Given the description of an element on the screen output the (x, y) to click on. 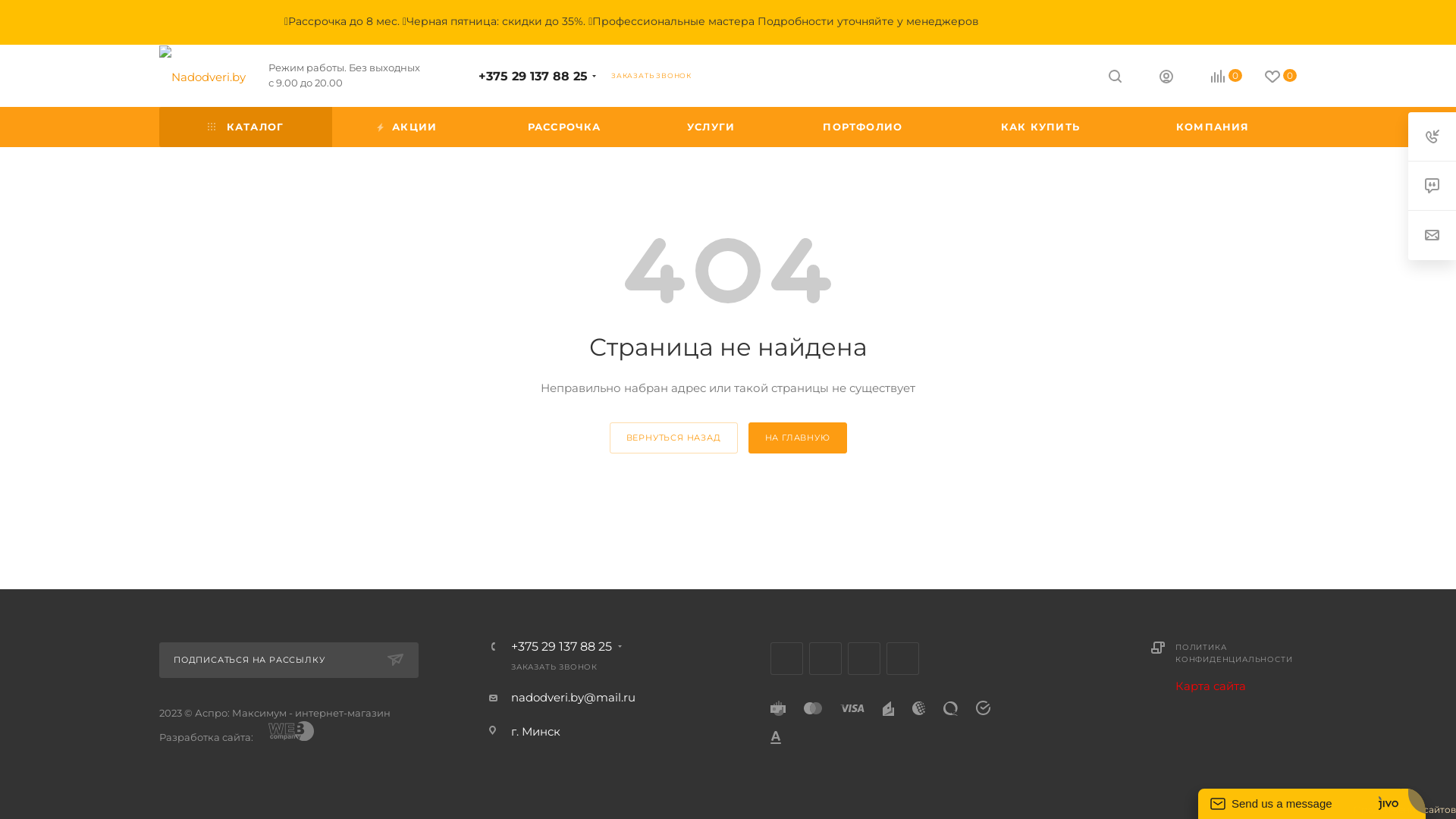
Sberbank Element type: hover (982, 707)
+375 29 137 88 25 Element type: text (561, 646)
Qiwi Element type: hover (950, 707)
; Element type: text (290, 733)
Instagram Element type: text (786, 658)
Visa Element type: hover (852, 708)
Alfa Element type: hover (775, 736)
Cash Element type: hover (777, 707)
+375 29 137 88 25 Element type: text (532, 76)
nadodveri.by@mail.ru Element type: text (573, 697)
0 Element type: text (1215, 77)
Viber Element type: text (863, 658)
Yandex Element type: hover (888, 707)
Telegram Element type: text (825, 658)
WebMoney Element type: hover (918, 708)
0 Element type: text (1269, 77)
WhatsApp Element type: text (902, 658)
Nadodveri.by Element type: hover (202, 76)
MasterCard Element type: hover (812, 708)
